Given the description of an element on the screen output the (x, y) to click on. 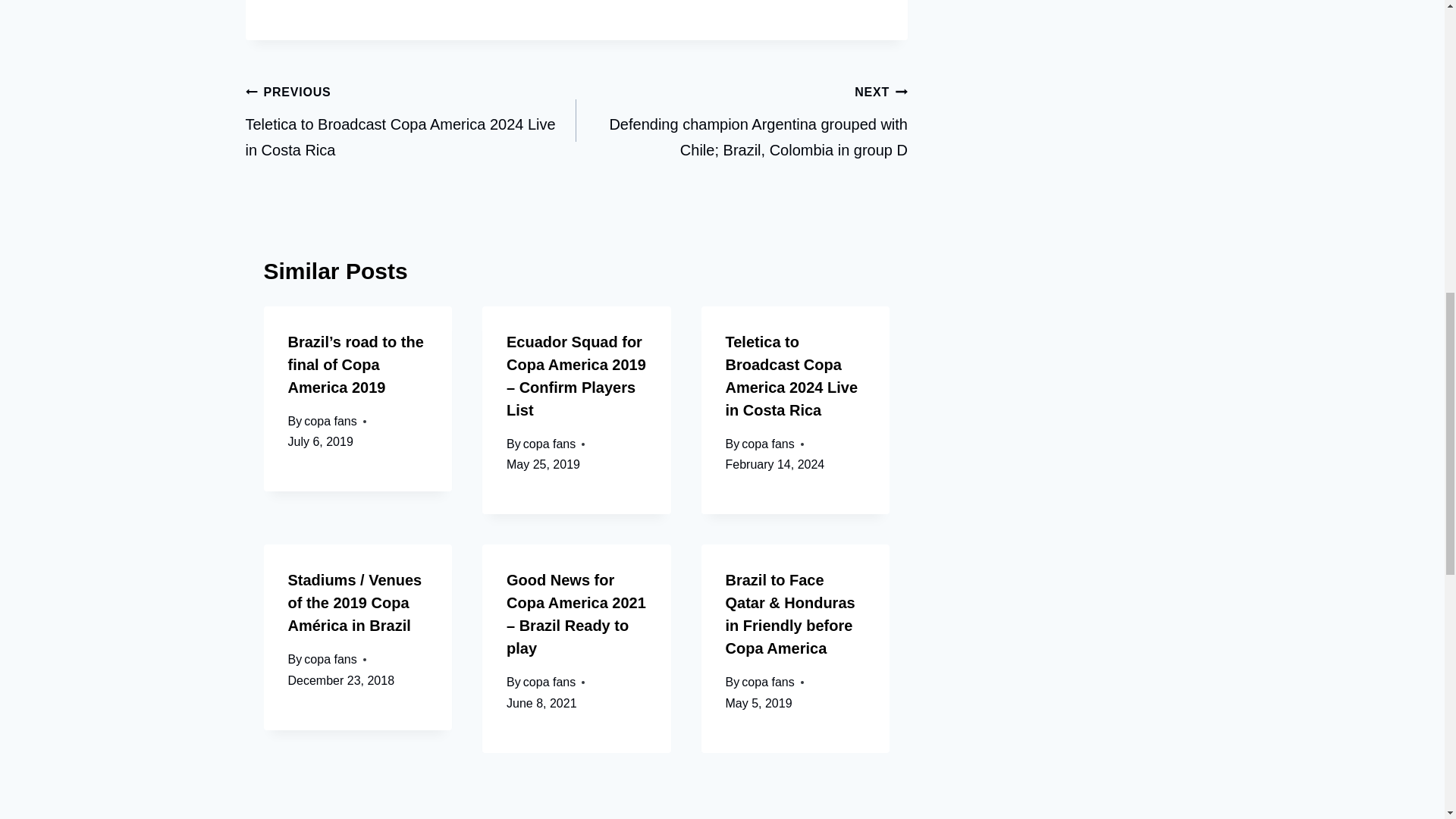
copa fans (767, 443)
Teletica to Broadcast Copa America 2024 Live in Costa Rica (791, 375)
copa fans (330, 420)
copa fans (330, 658)
copa fans (548, 681)
copa fans (548, 443)
copa fans (767, 681)
